Given the description of an element on the screen output the (x, y) to click on. 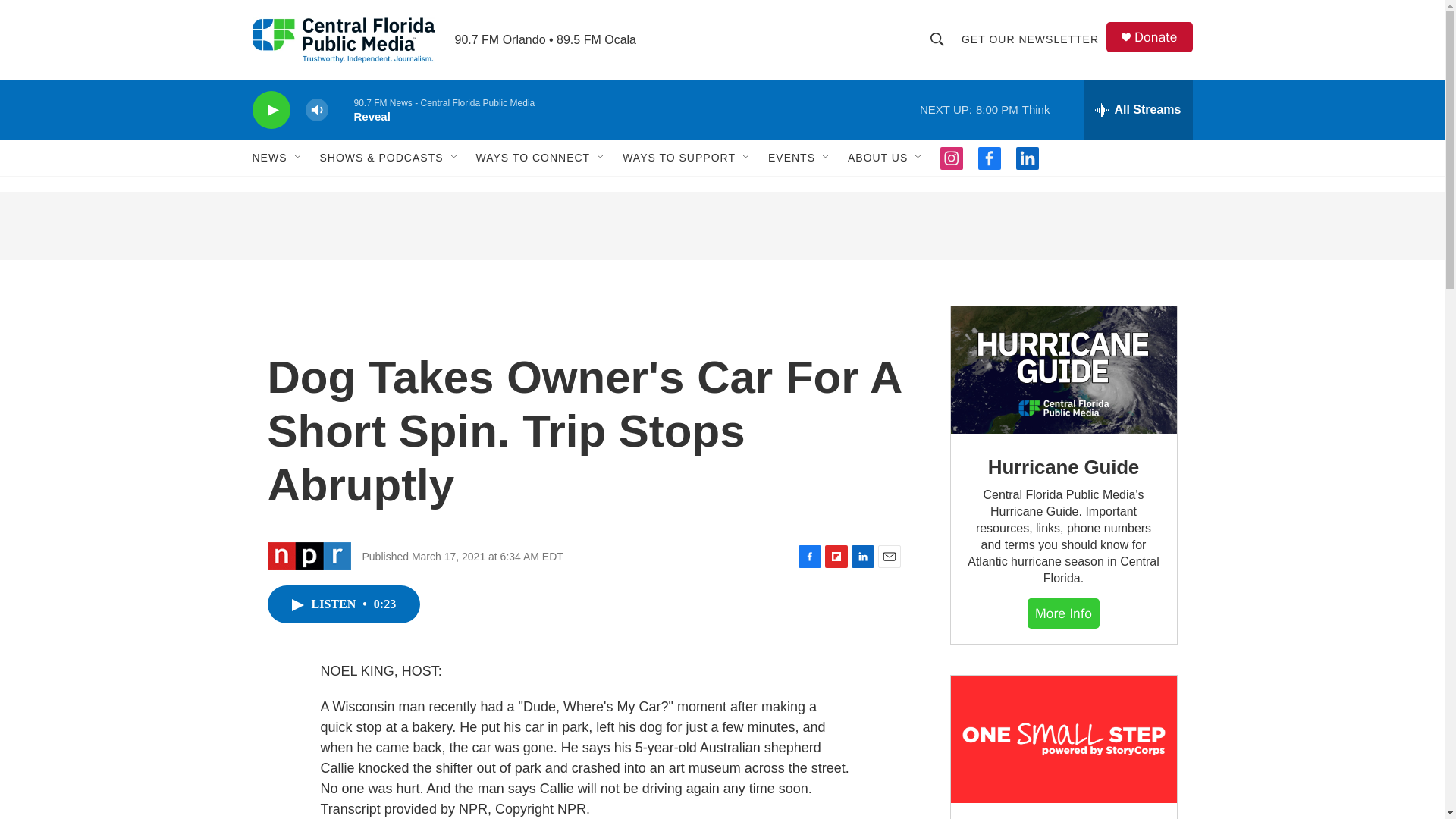
3rd party ad content (721, 225)
